Given the description of an element on the screen output the (x, y) to click on. 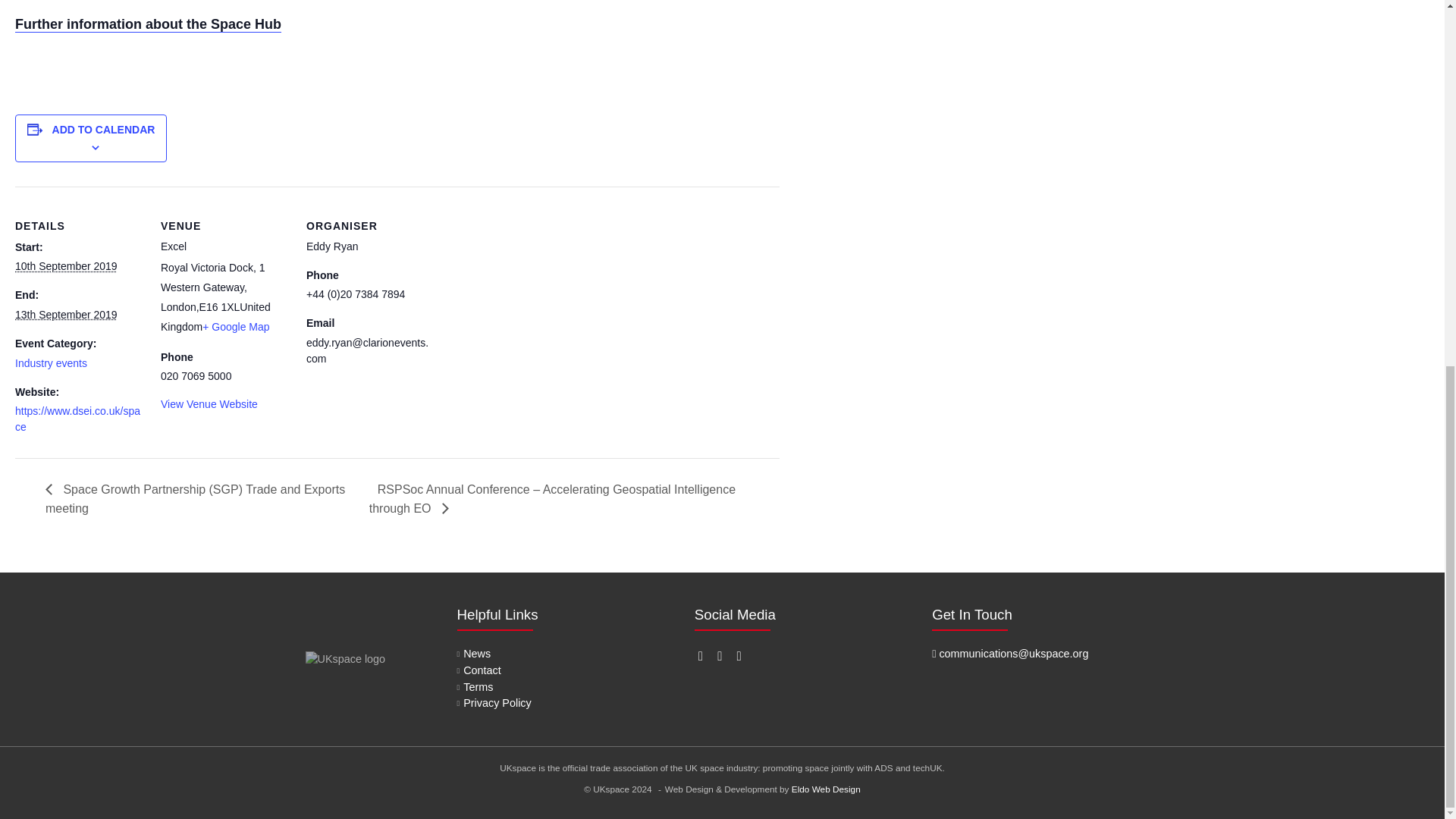
2019-09-13 (65, 314)
Click to view a Google Map (235, 326)
2019-09-10 (65, 265)
